Given the description of an element on the screen output the (x, y) to click on. 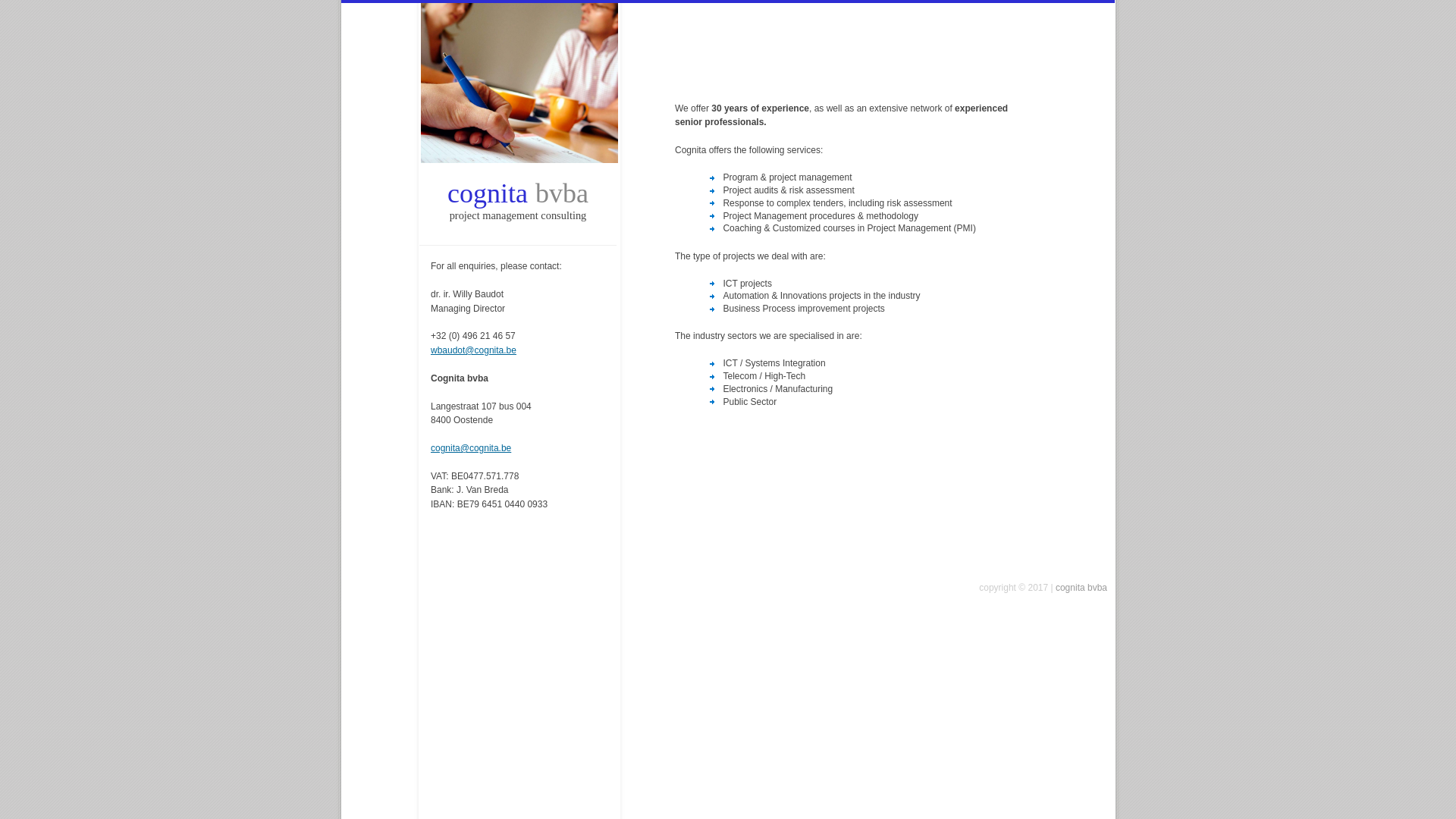
cognita@cognita.be Element type: text (470, 447)
cognita bvba Element type: text (1081, 587)
wbaudot@cognita.be Element type: text (473, 350)
